Given the description of an element on the screen output the (x, y) to click on. 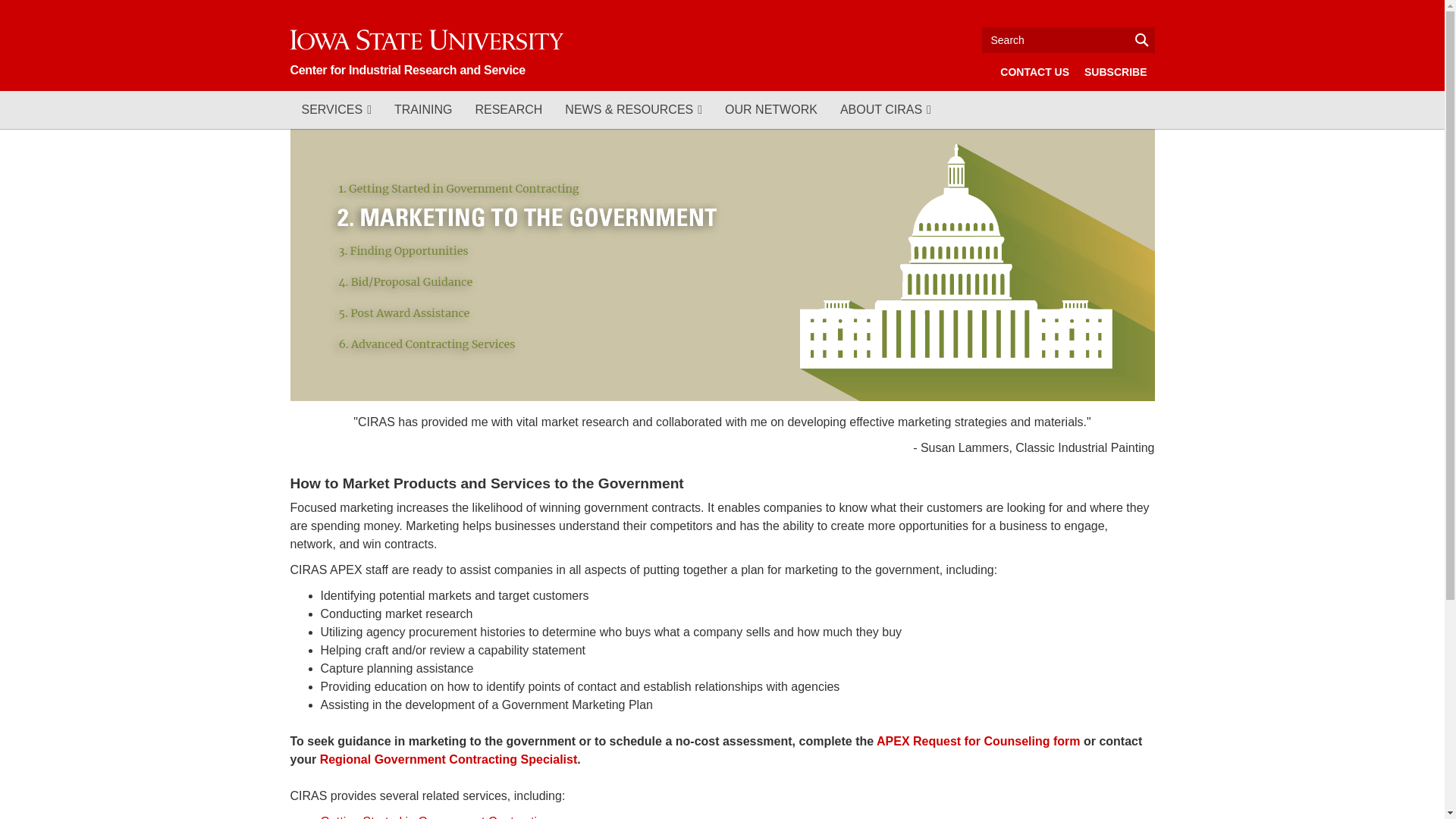
Advanced Contracting Services (427, 343)
Home (425, 50)
Search (1067, 40)
SERVICES (335, 109)
Finding Opportunities (402, 251)
SUBSCRIBE (1115, 71)
RESEARCH (508, 109)
Getting Started in Government Contracting (460, 188)
Marketing to the Government (424, 220)
